Given the description of an element on the screen output the (x, y) to click on. 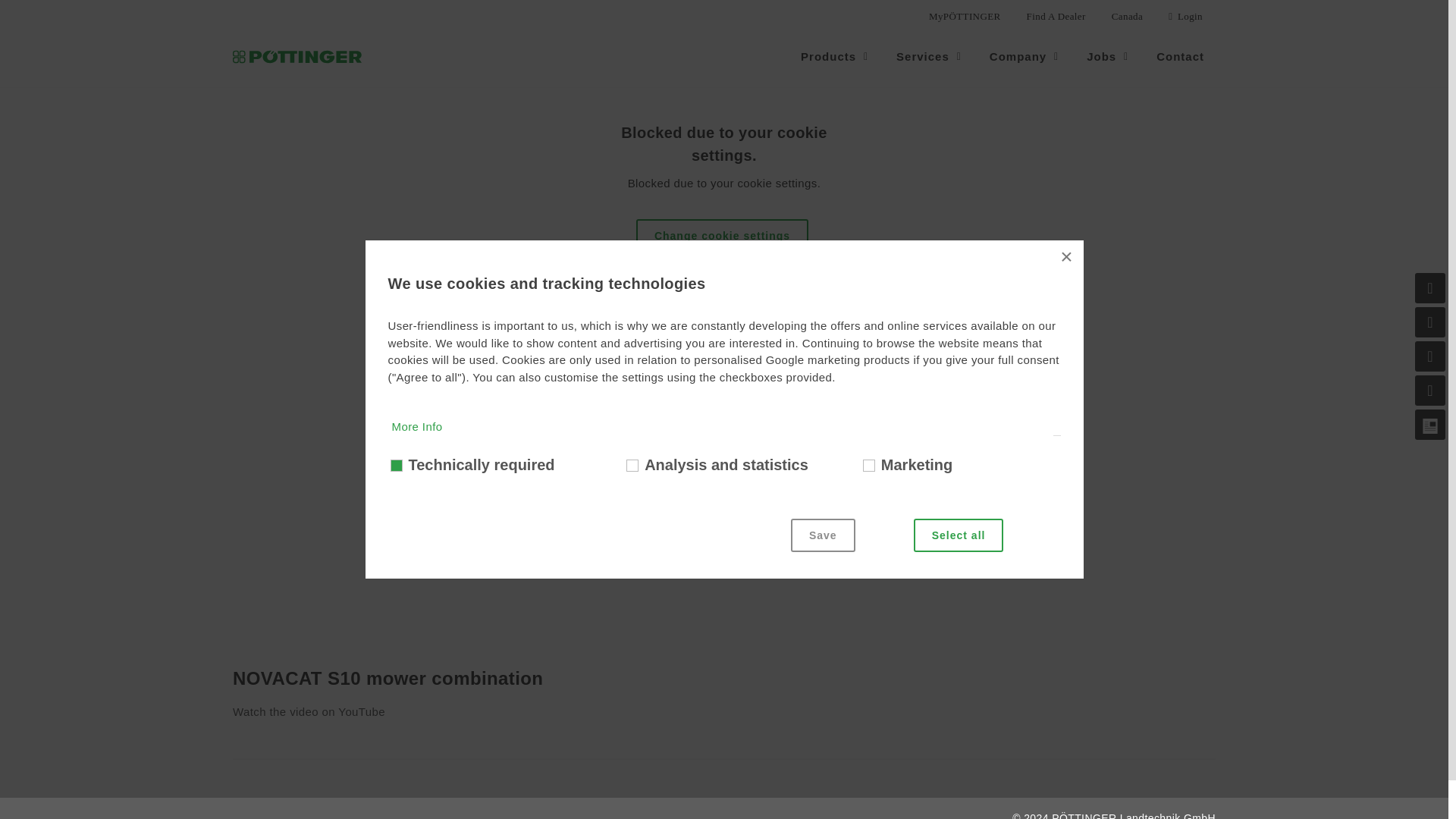
More Info (437, 574)
Canada (1127, 16)
Login (1185, 16)
Select all (959, 535)
Save (823, 535)
More Info (416, 426)
More Info (437, 755)
Find A Dealer (1056, 16)
Products (836, 56)
